Given the description of an element on the screen output the (x, y) to click on. 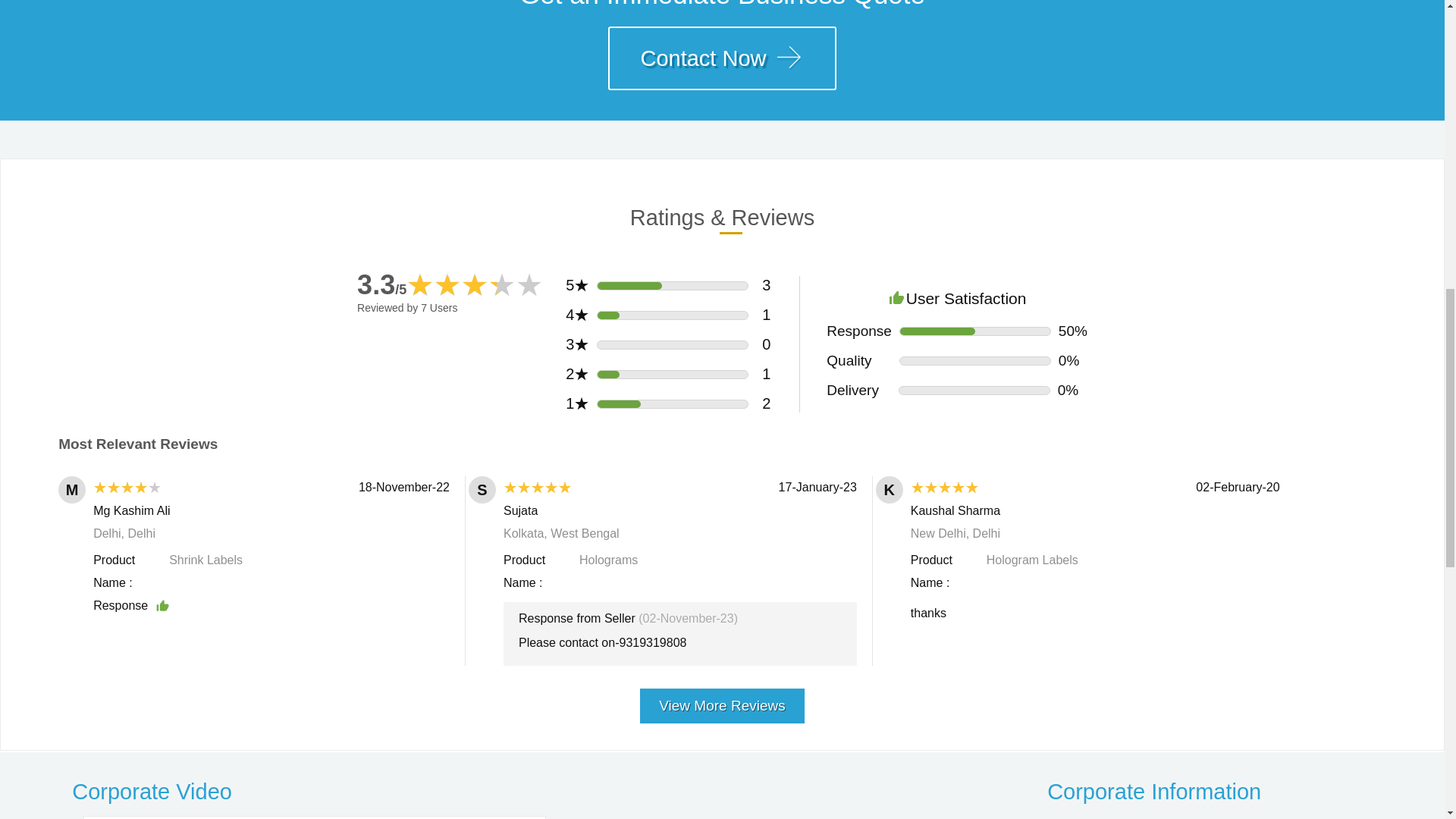
3.3 out of 5 Votes (381, 284)
Corporate Video (494, 791)
View More Reviews (721, 699)
